Given the description of an element on the screen output the (x, y) to click on. 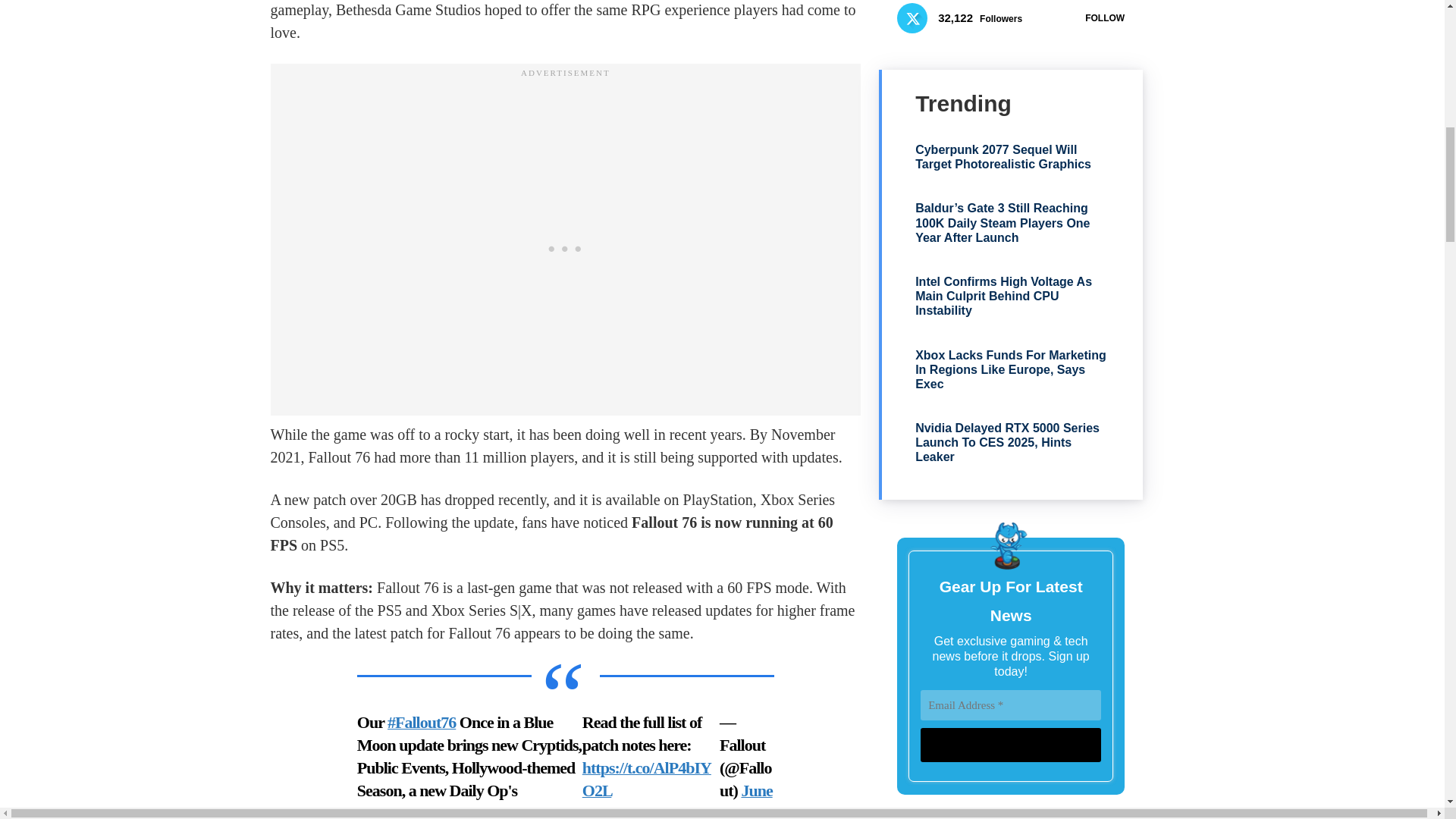
Subscribe! (1010, 745)
